Given the description of an element on the screen output the (x, y) to click on. 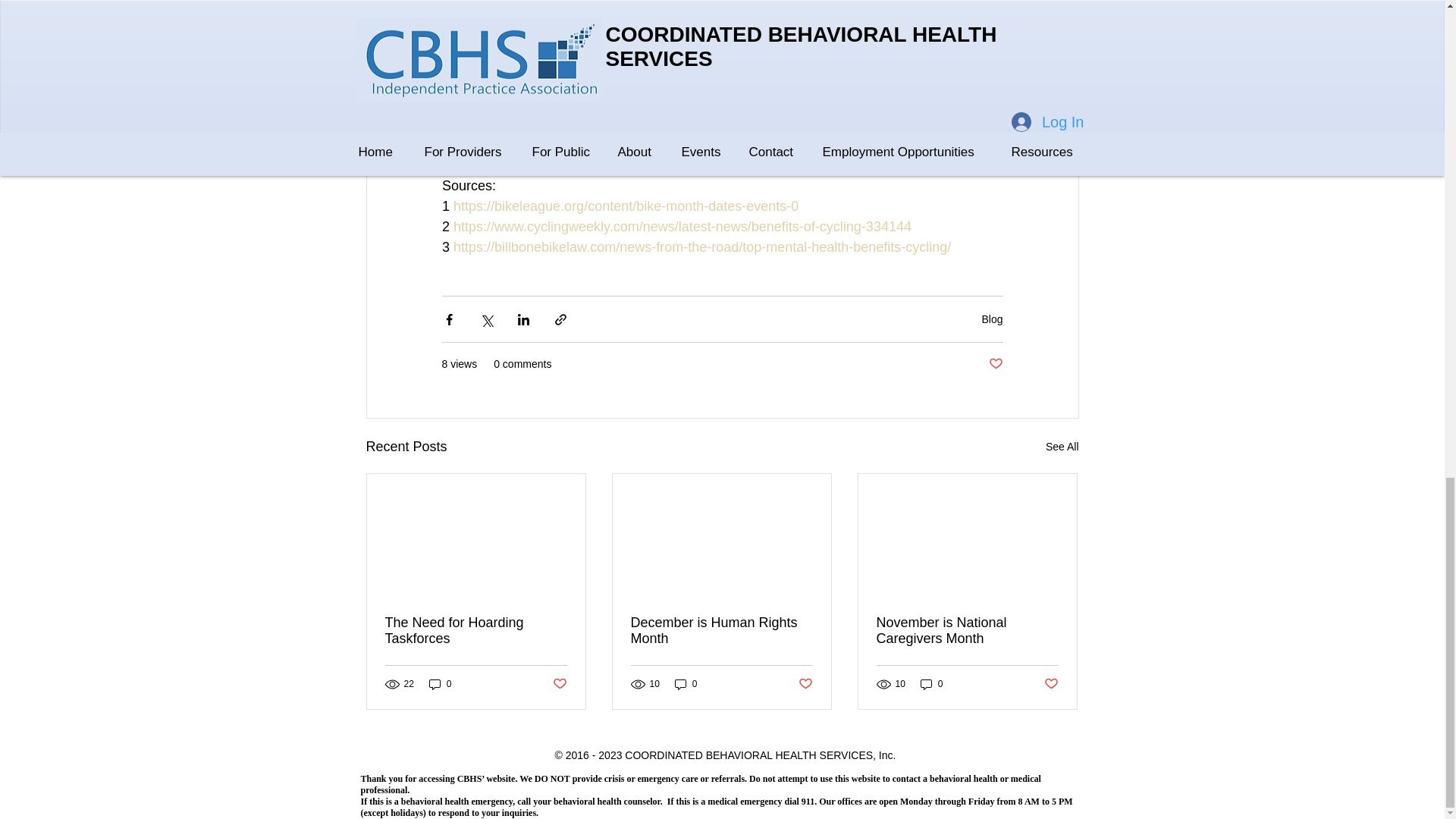
this comprehensive resource (722, 72)
Blog (992, 318)
